Given the description of an element on the screen output the (x, y) to click on. 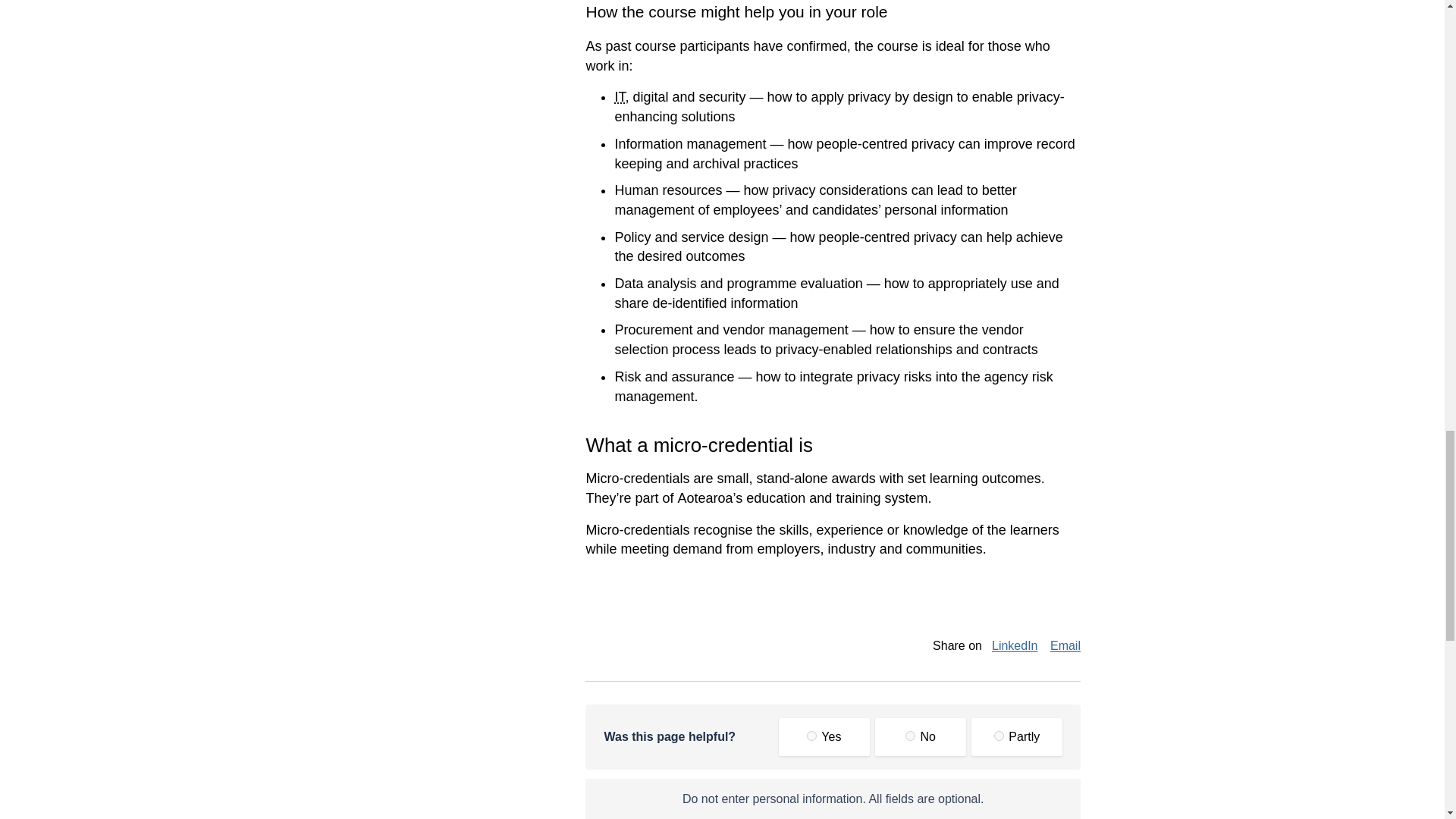
Yes (811, 736)
No (910, 736)
Partly (999, 736)
